Given the description of an element on the screen output the (x, y) to click on. 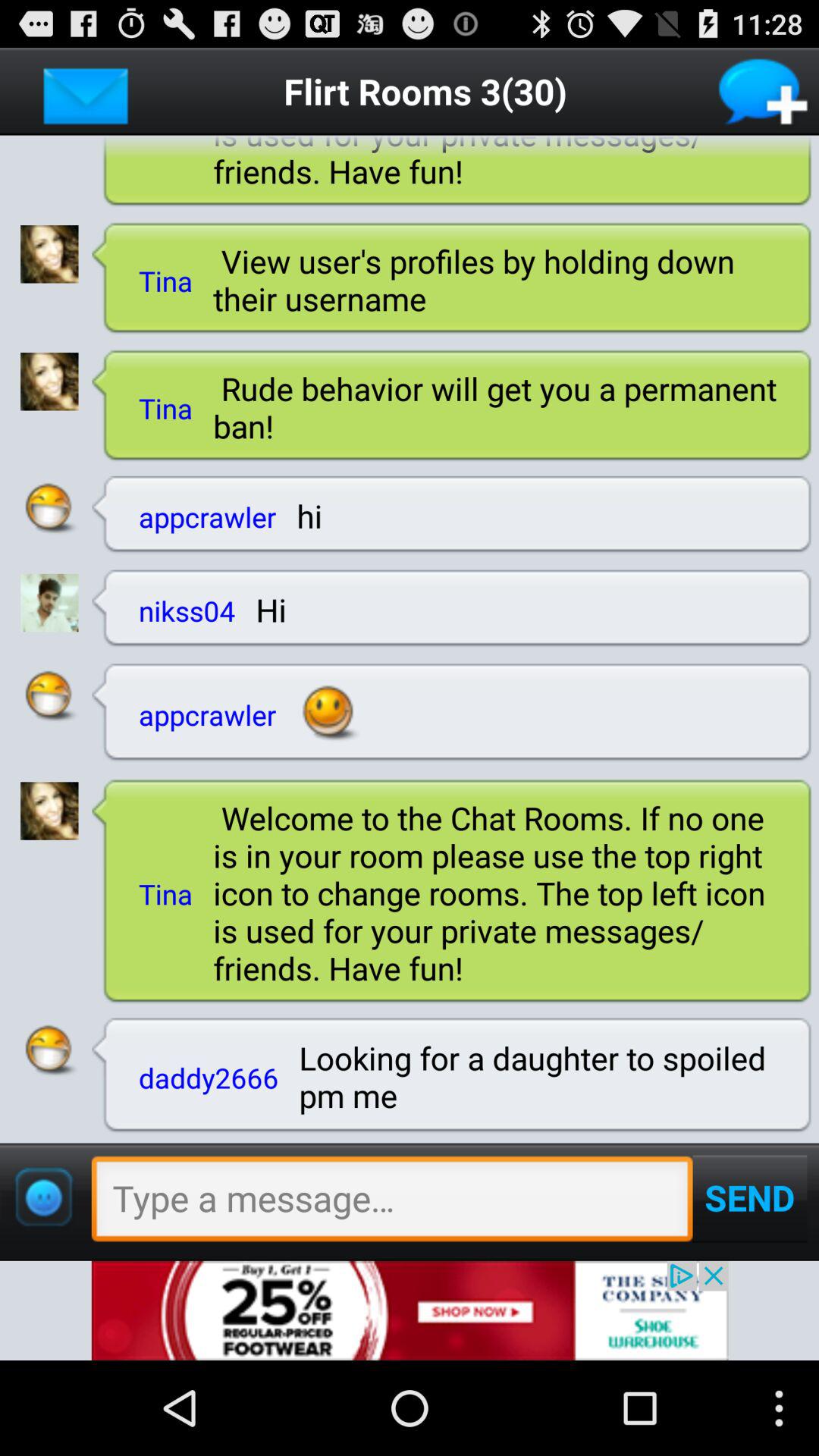
create new message (764, 91)
